Given the description of an element on the screen output the (x, y) to click on. 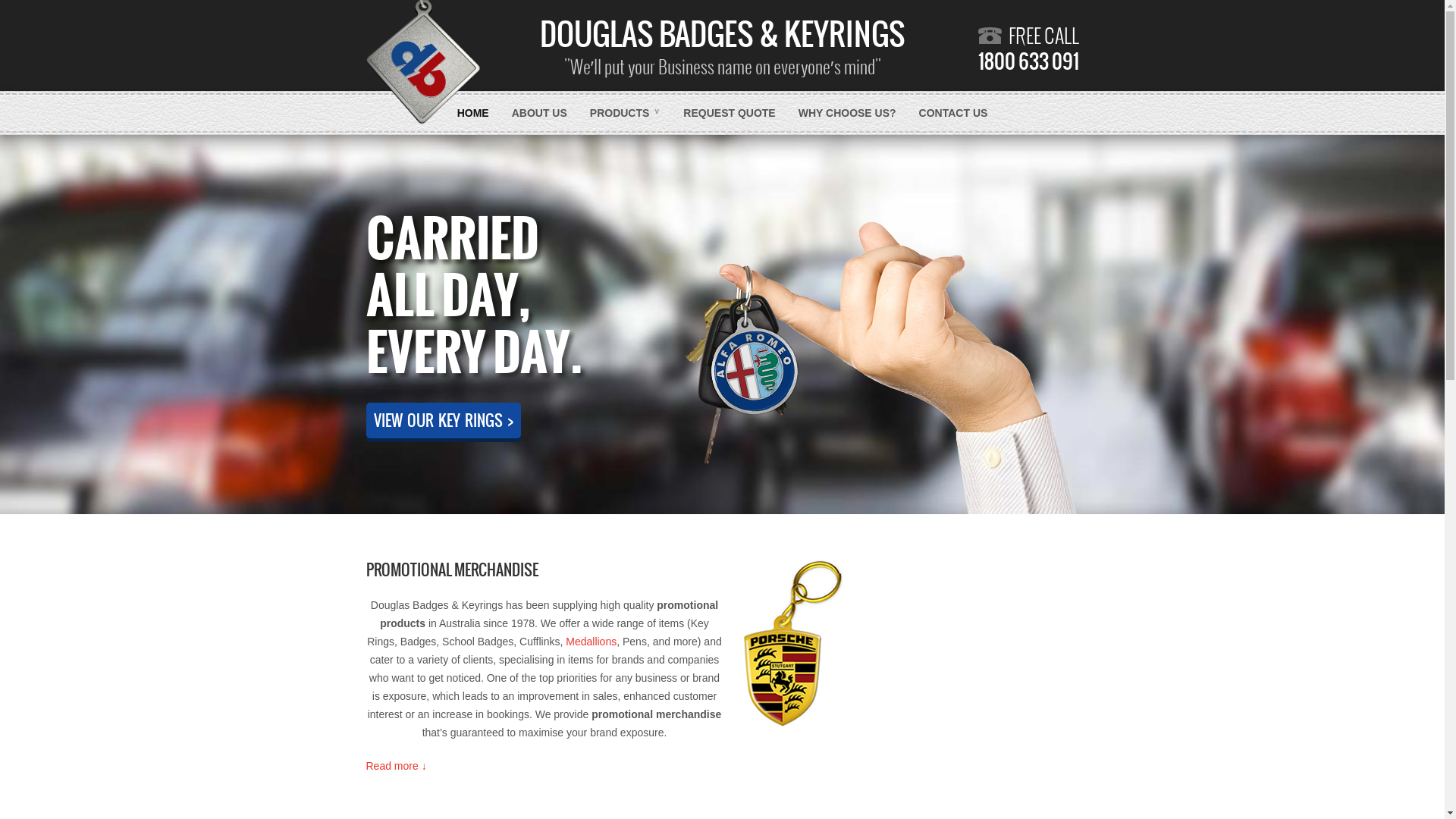
REQUEST QUOTE Element type: text (728, 112)
CONTACT US Element type: text (953, 112)
HOME Element type: text (472, 112)
VIEW OUR KEY RINGS > Element type: text (442, 420)
Medallions Element type: text (590, 641)
PRODUCTS Element type: text (625, 112)
WHY CHOOSE US? Element type: text (846, 112)
ABOUT US Element type: text (539, 112)
